Given the description of an element on the screen output the (x, y) to click on. 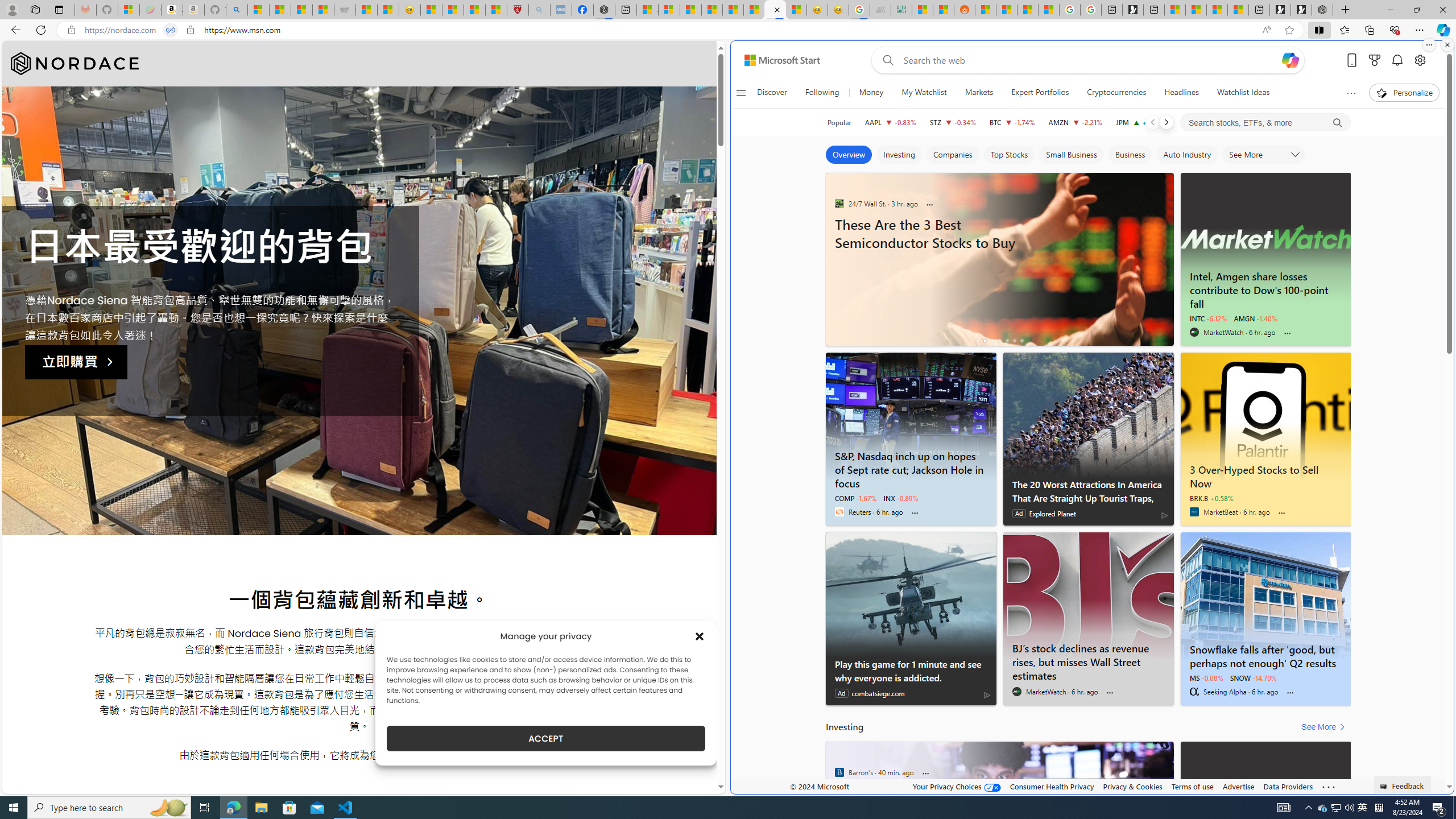
Consumer Health Privacy (1051, 785)
Your Privacy Choices (956, 786)
Headlines (1181, 92)
More options. (1428, 45)
Business (1129, 154)
Microsoft rewards (1374, 60)
Data Providers (1288, 785)
Close split screen. (1447, 45)
Expert Portfolios (1039, 92)
Your Privacy Choices (956, 785)
